Given the description of an element on the screen output the (x, y) to click on. 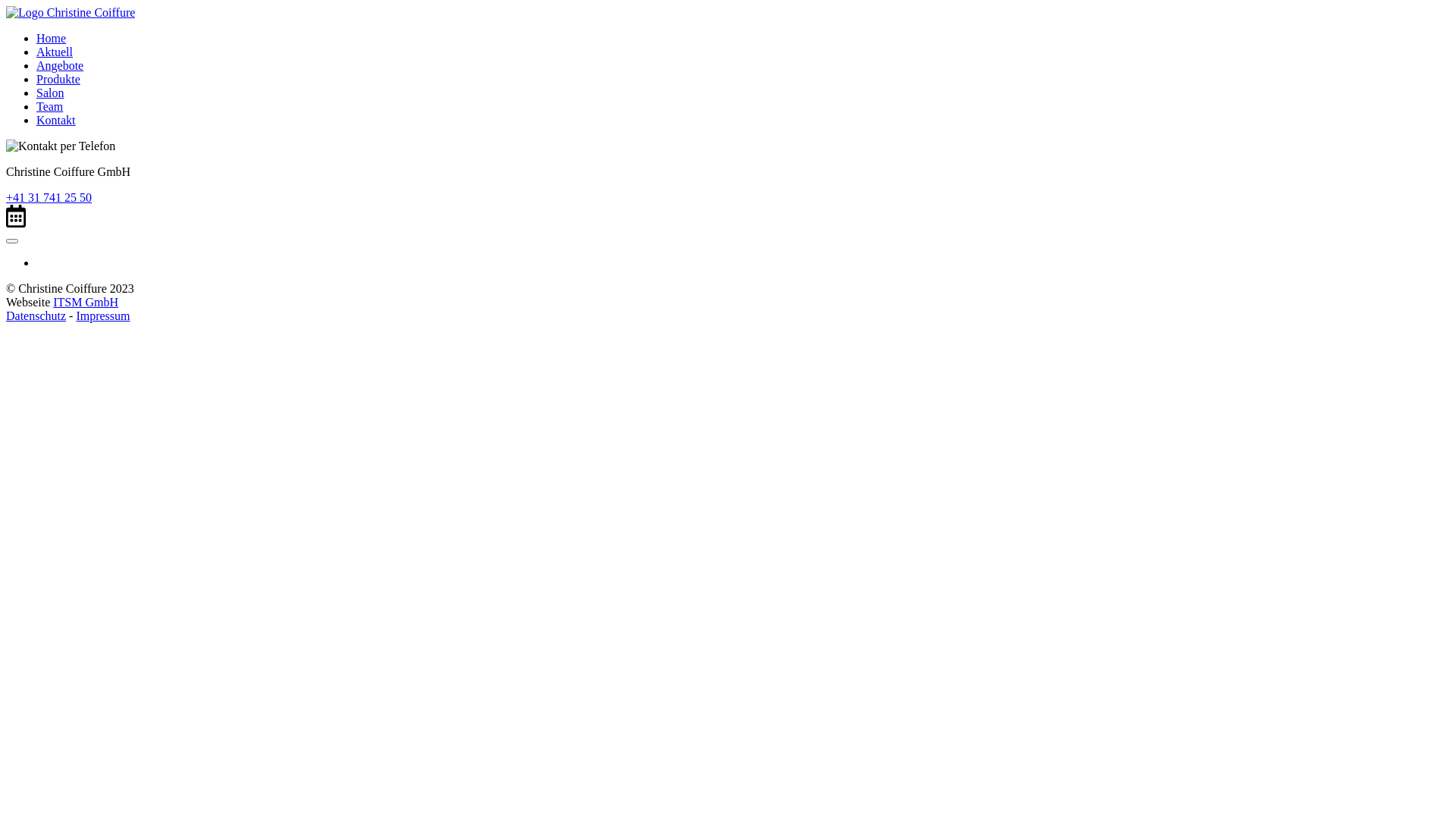
Aktuell Element type: text (54, 51)
Christine Coiffure Element type: hover (70, 12)
Impressum Element type: text (102, 315)
Datenschutz Element type: text (35, 315)
Salon Element type: text (49, 92)
Angebote Element type: text (59, 65)
Kontakt Element type: text (55, 119)
+41 31 741 25 50 Element type: text (48, 197)
Online Termin Reservation Element type: hover (15, 215)
Team Element type: text (49, 106)
Home Element type: text (50, 37)
ITSM GmbH Element type: text (85, 301)
Produkte Element type: text (58, 78)
